Given the description of an element on the screen output the (x, y) to click on. 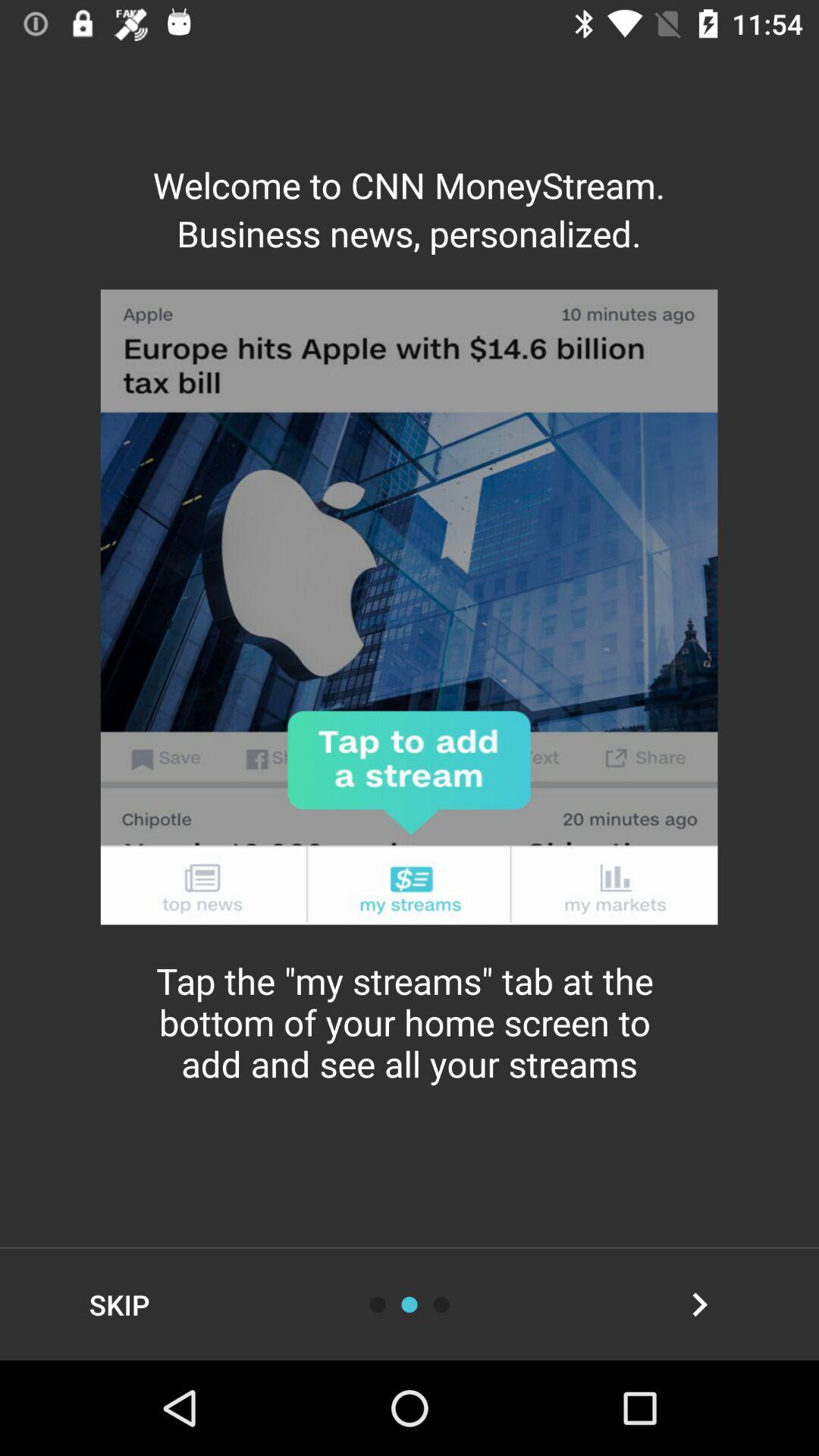
next button (699, 1304)
